Given the description of an element on the screen output the (x, y) to click on. 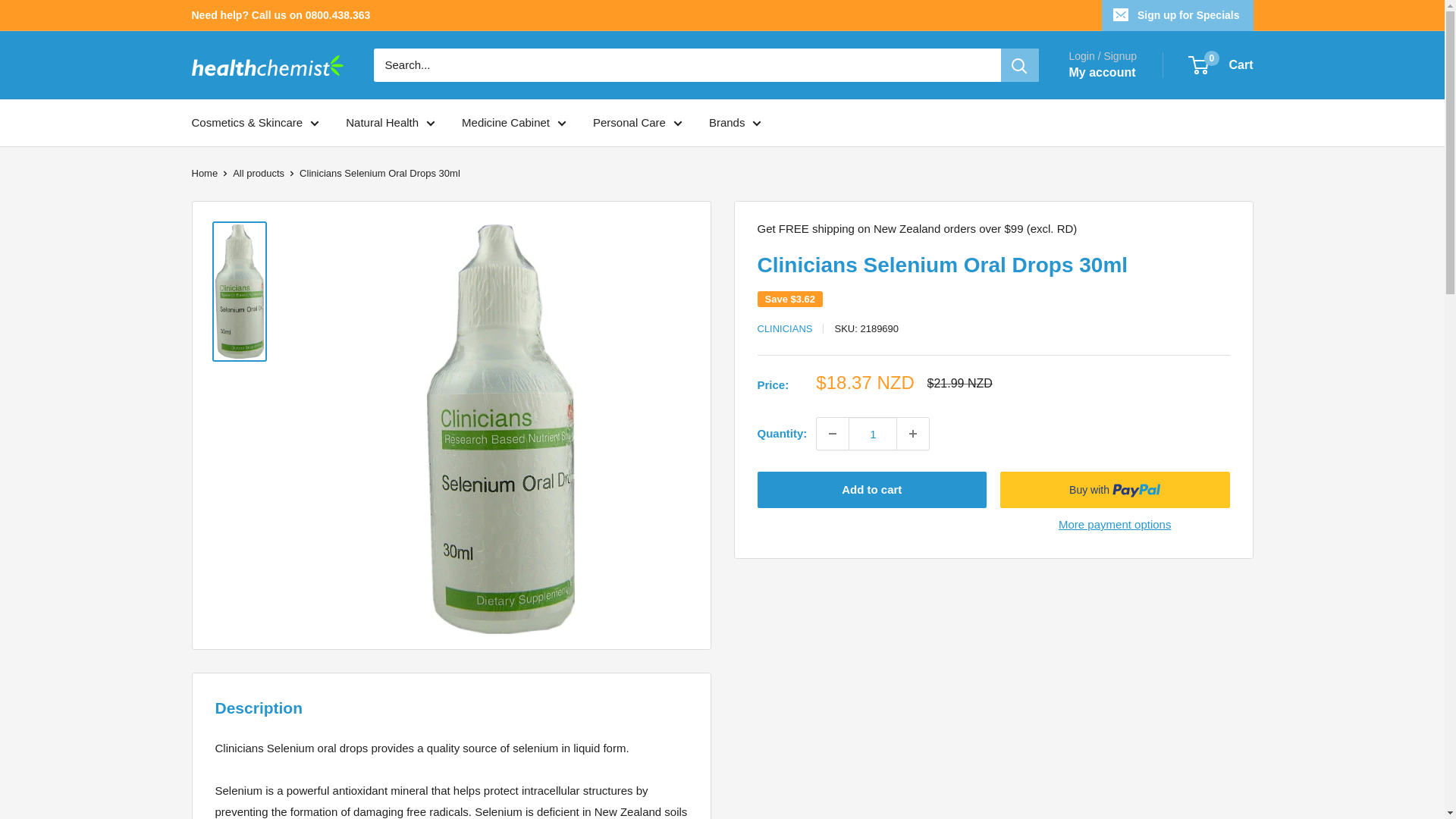
1 (872, 433)
Sign up for Specials (1177, 15)
Increase quantity by 1 (912, 433)
Decrease quantity by 1 (832, 433)
Need help? Call us on 0800.438.363 (279, 15)
